Given the description of an element on the screen output the (x, y) to click on. 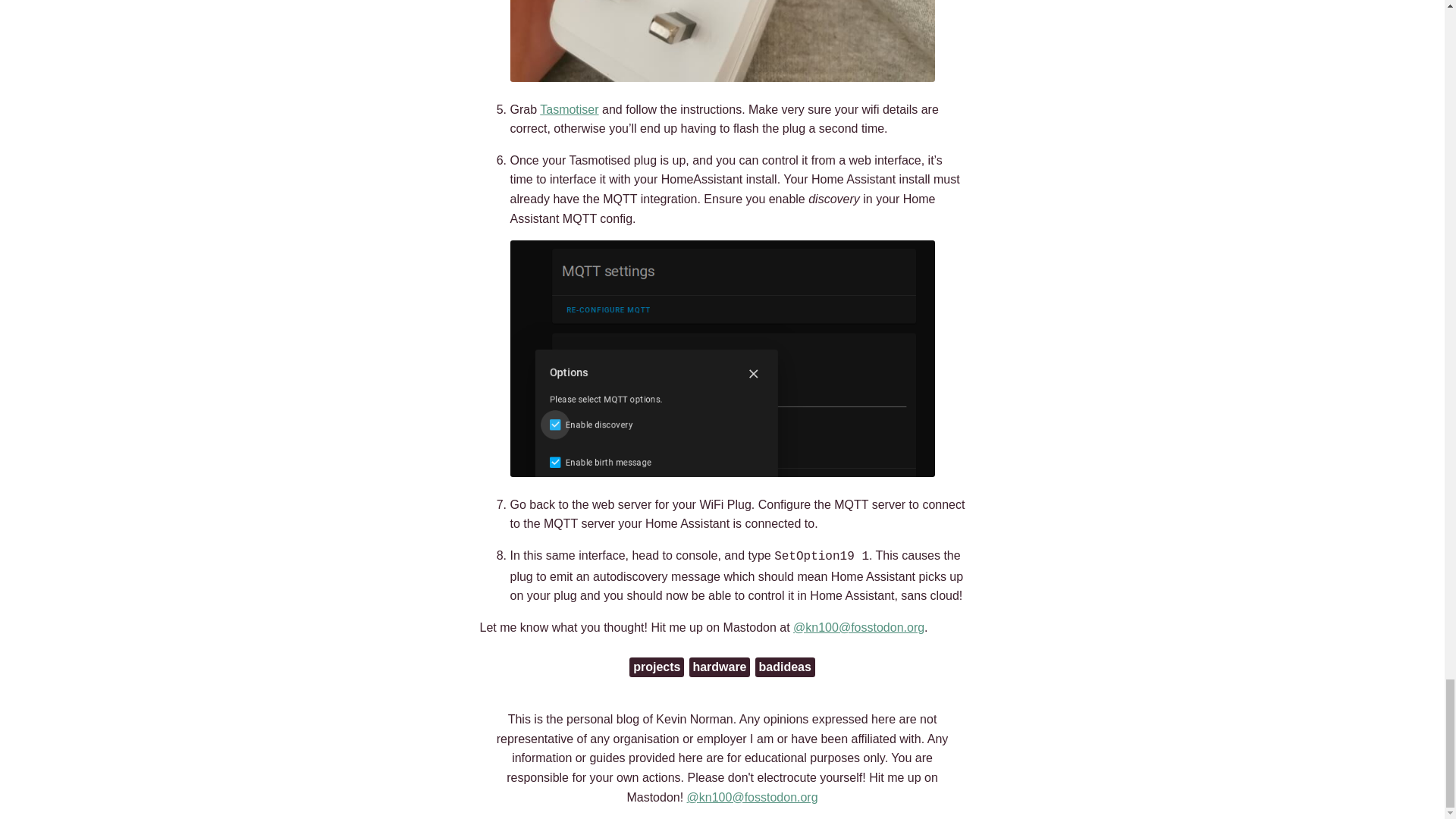
plug-mqtt-discovery (721, 358)
badideas (784, 667)
hardware (719, 667)
Tasmotiser (569, 109)
plug-serial (721, 40)
projects (656, 667)
